Given the description of an element on the screen output the (x, y) to click on. 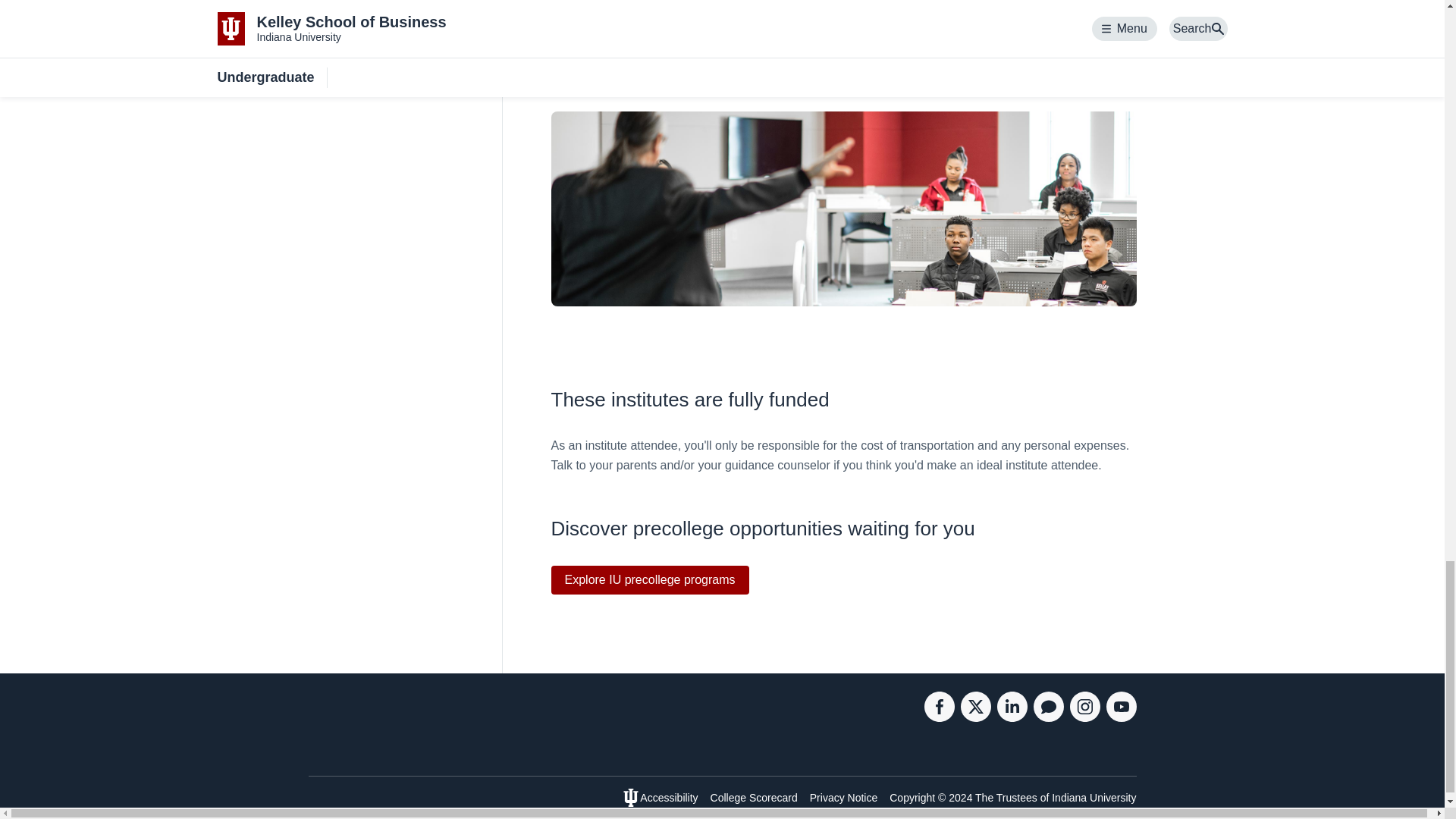
Explore IU precollege programs (649, 579)
College Scorecard (753, 797)
Privacy Notice (843, 797)
Indiana University (1093, 797)
Twitter for the Kelley School of Business (974, 716)
Blog for the Kelley School of Business Full-Time MBA Program (1047, 716)
